Given the description of an element on the screen output the (x, y) to click on. 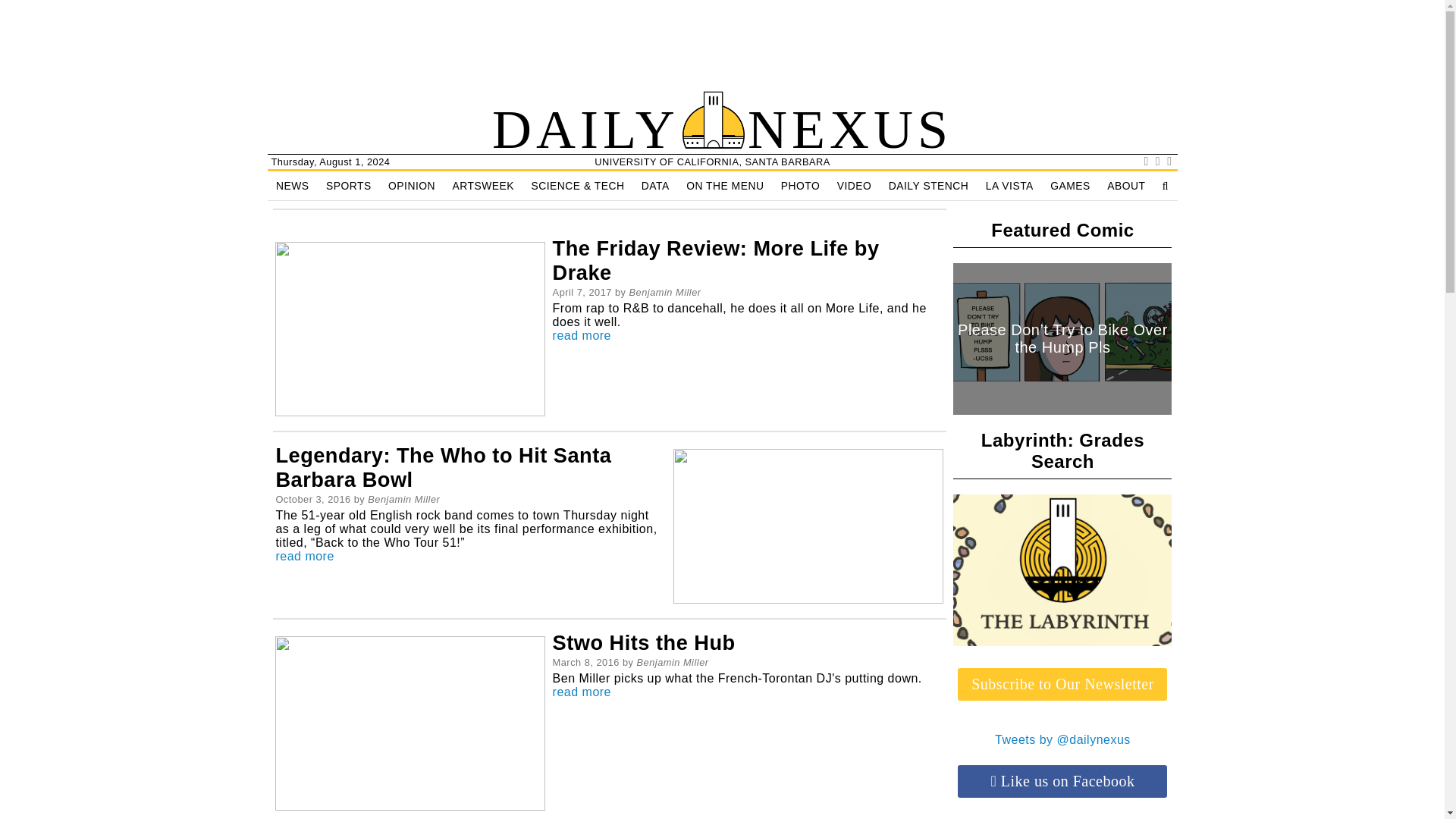
Posts by Benjamin Miller (664, 292)
Posts by Benjamin Miller (673, 662)
Posts by Benjamin Miller (403, 499)
